Given the description of an element on the screen output the (x, y) to click on. 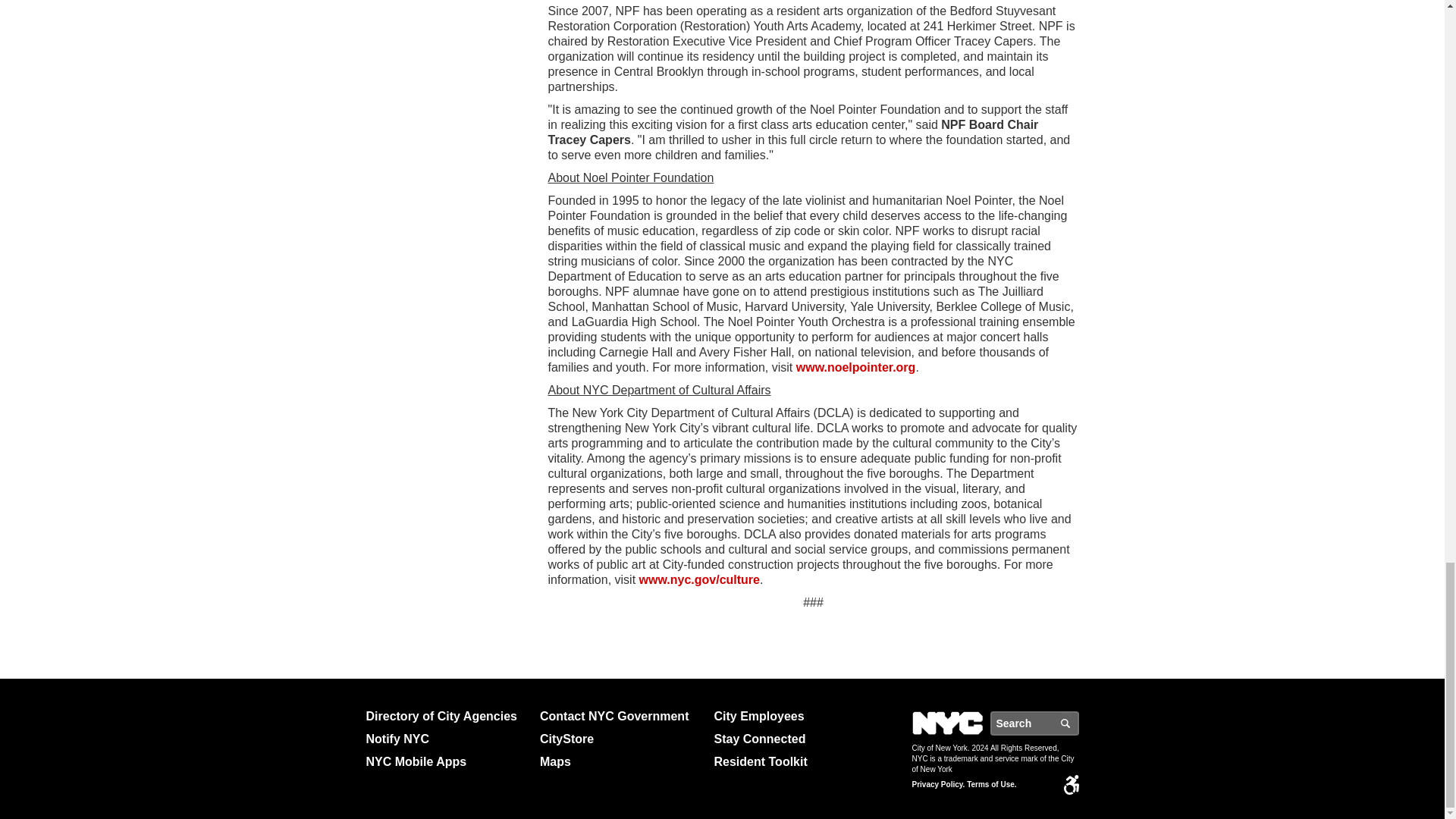
Terms of Use (991, 784)
Privacy Ploicy  (937, 784)
www.noelpointer.org (855, 367)
